Given the description of an element on the screen output the (x, y) to click on. 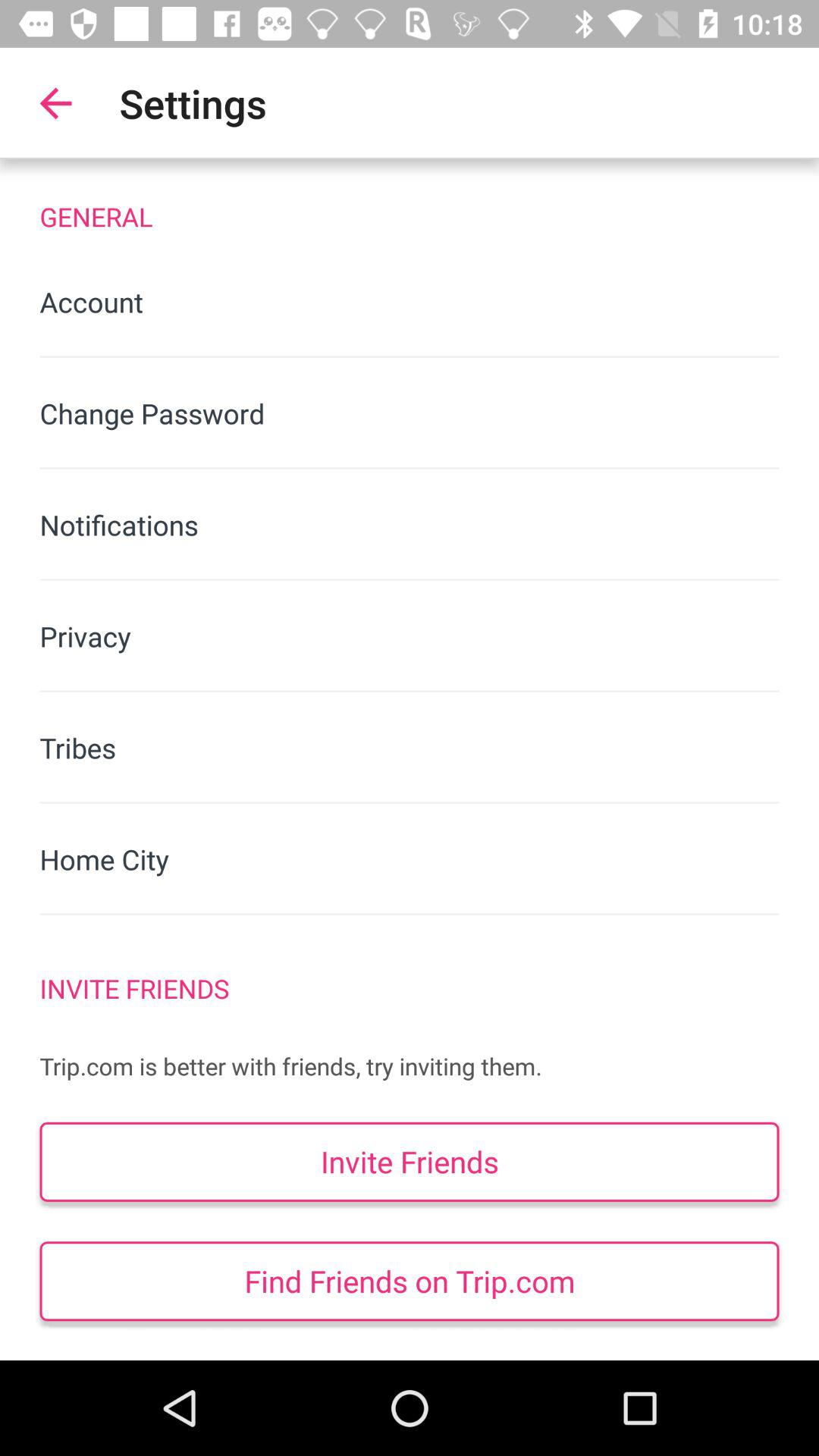
tap icon below the tribes item (409, 859)
